Given the description of an element on the screen output the (x, y) to click on. 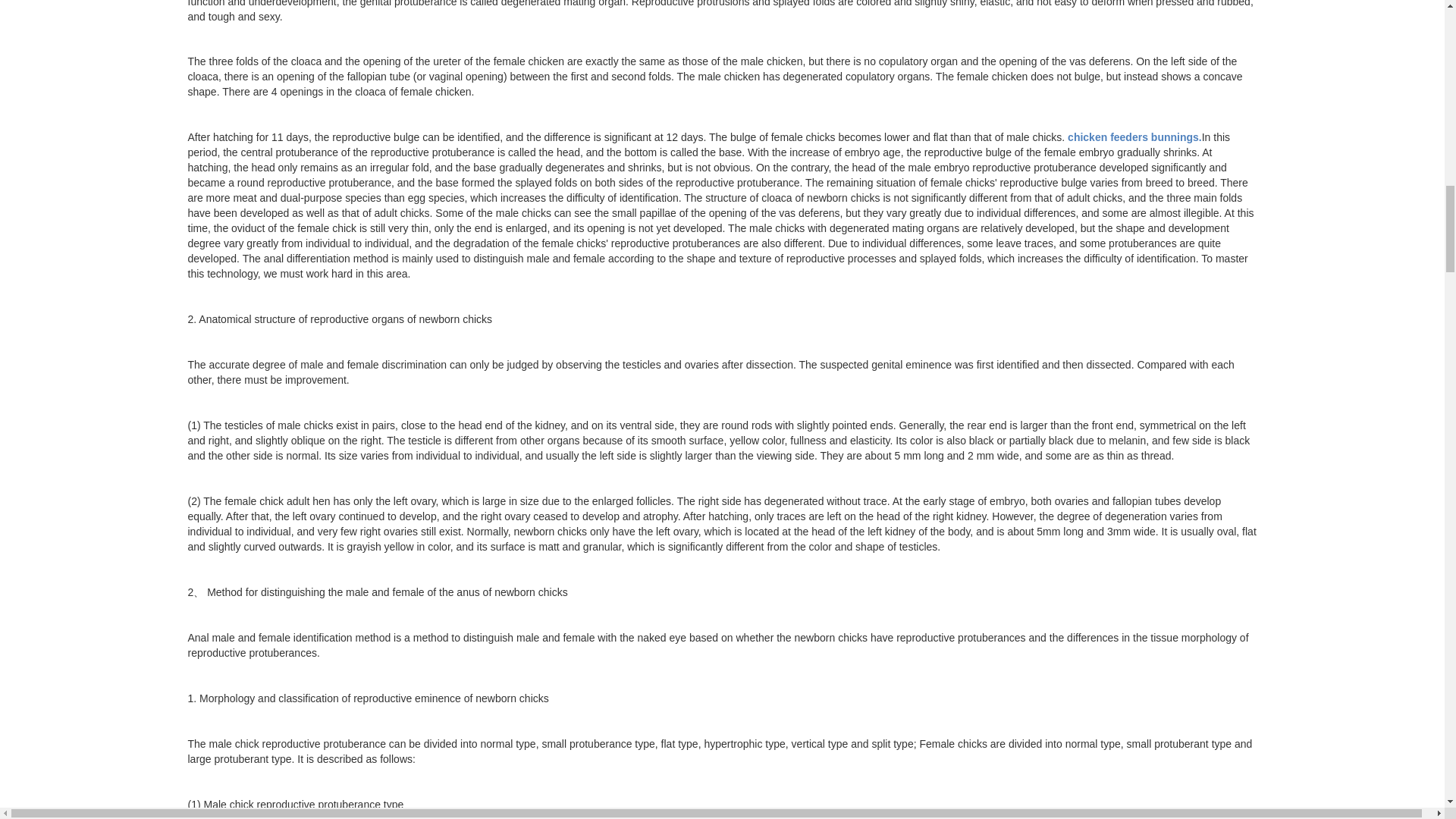
chicken feeders bunnings (1134, 137)
